Given the description of an element on the screen output the (x, y) to click on. 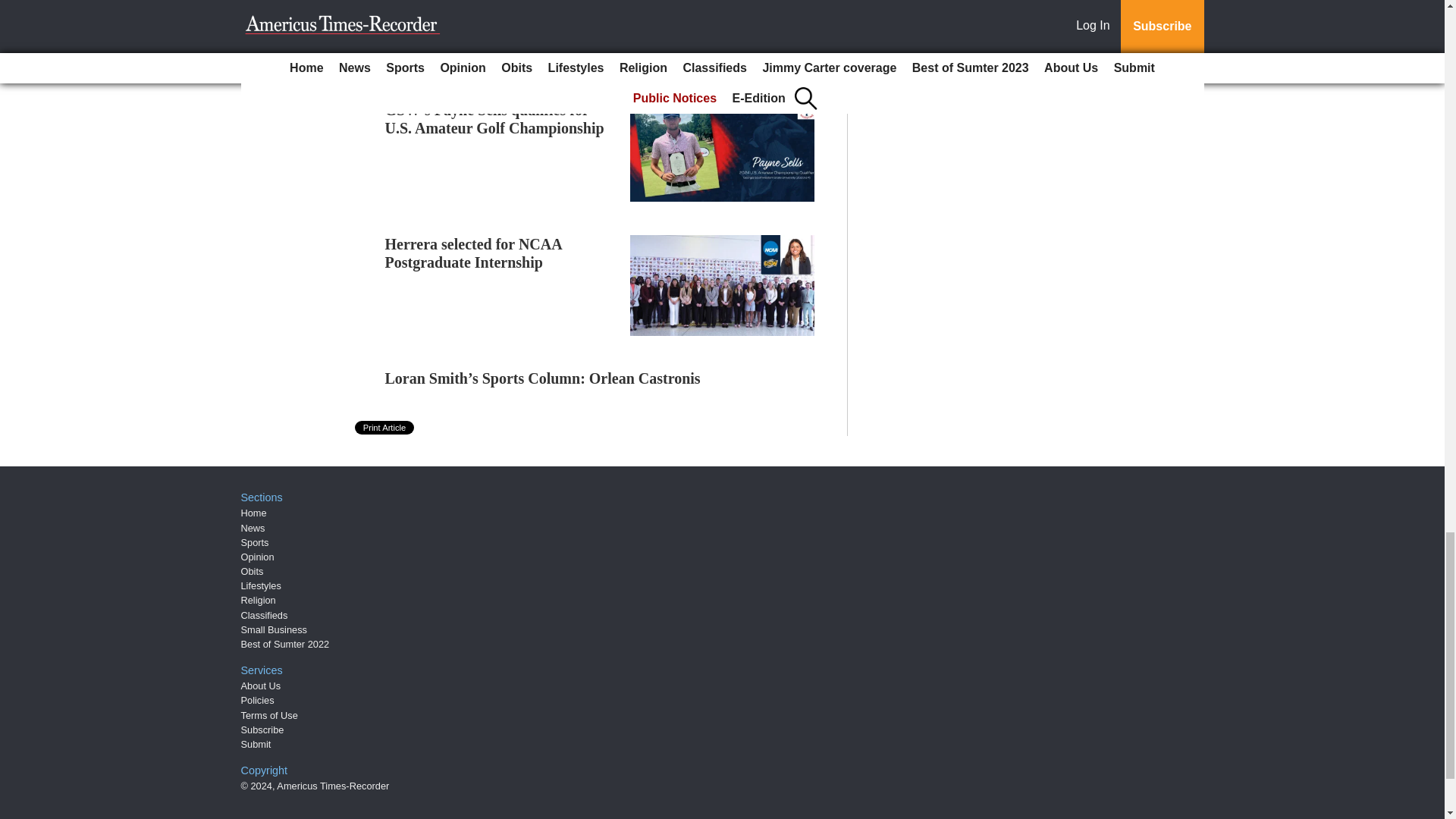
Print Article (384, 427)
Sports (255, 542)
News (252, 527)
Herrera selected for NCAA Postgraduate Internship (473, 253)
Opinion (258, 556)
Home (253, 512)
Herrera selected for NCAA Postgraduate Internship (473, 253)
